Given the description of an element on the screen output the (x, y) to click on. 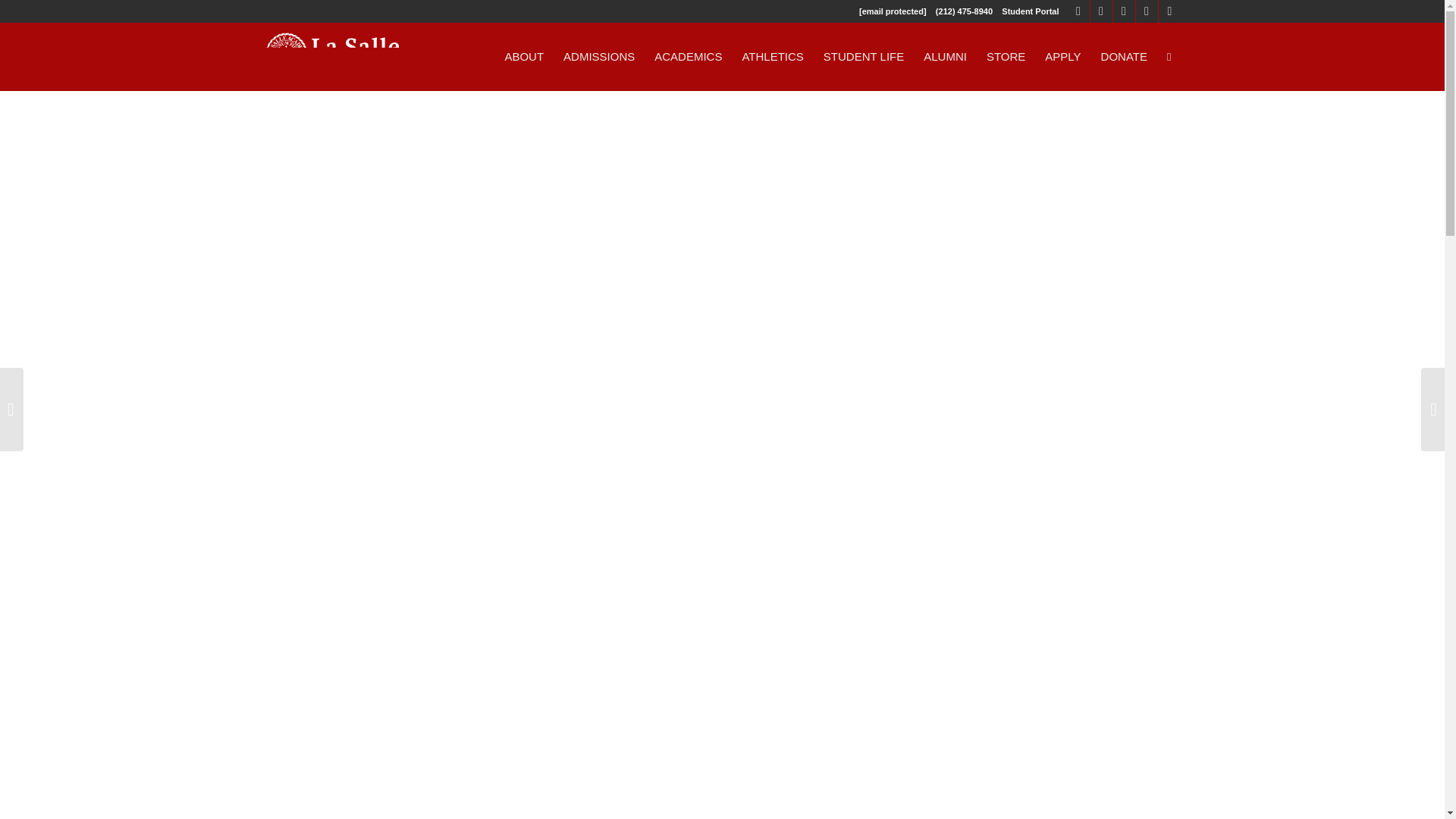
ACADEMICS (688, 56)
logo (332, 56)
ATHLETICS (772, 56)
LinkedIn (1124, 11)
ABOUT (524, 56)
ADMISSIONS (599, 56)
Facebook (1101, 11)
Youtube (1146, 11)
Twitter (1078, 11)
Student Portal (1029, 10)
Instagram (1169, 11)
